Given the description of an element on the screen output the (x, y) to click on. 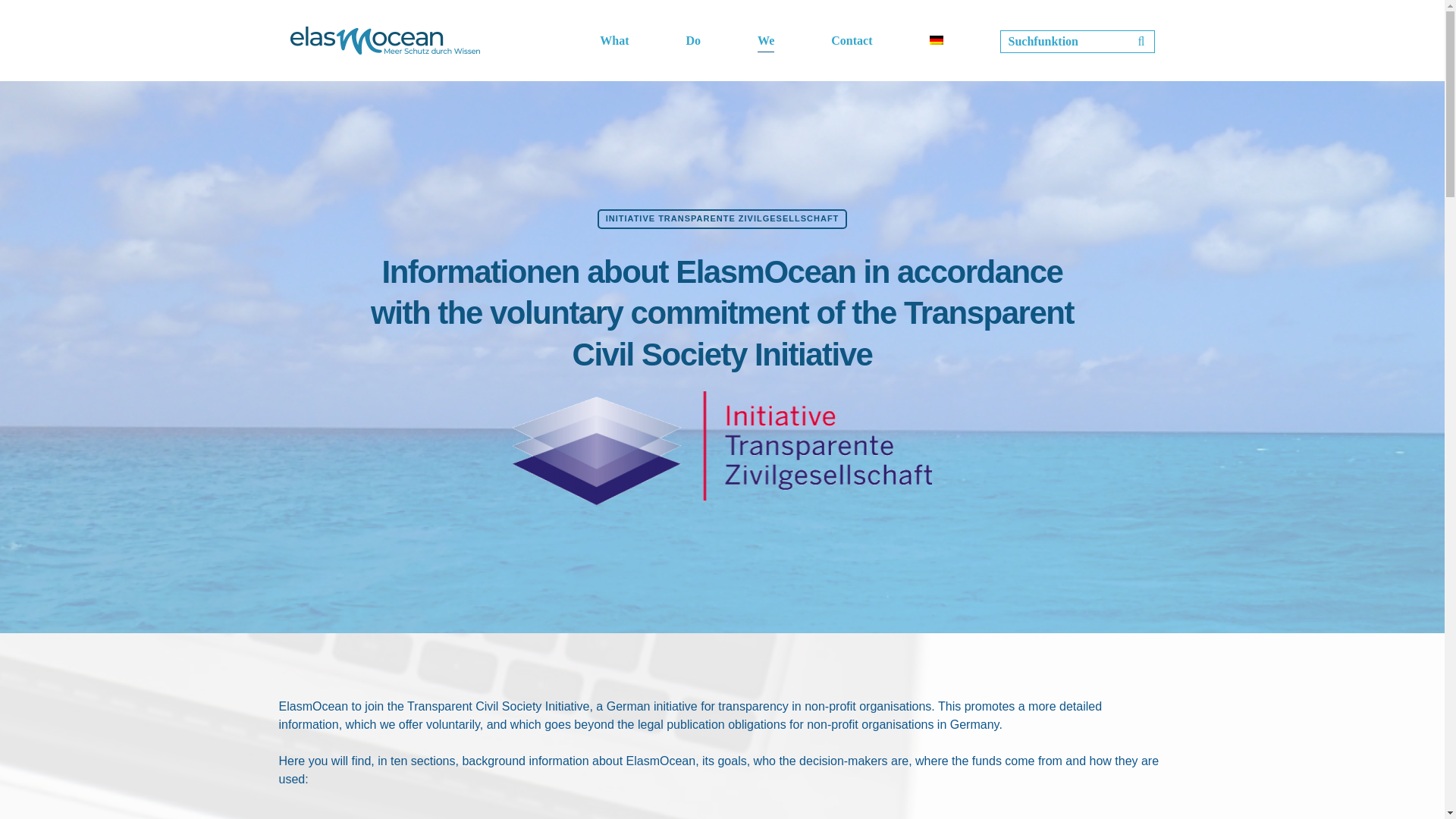
What (613, 39)
Contact (851, 39)
